Given the description of an element on the screen output the (x, y) to click on. 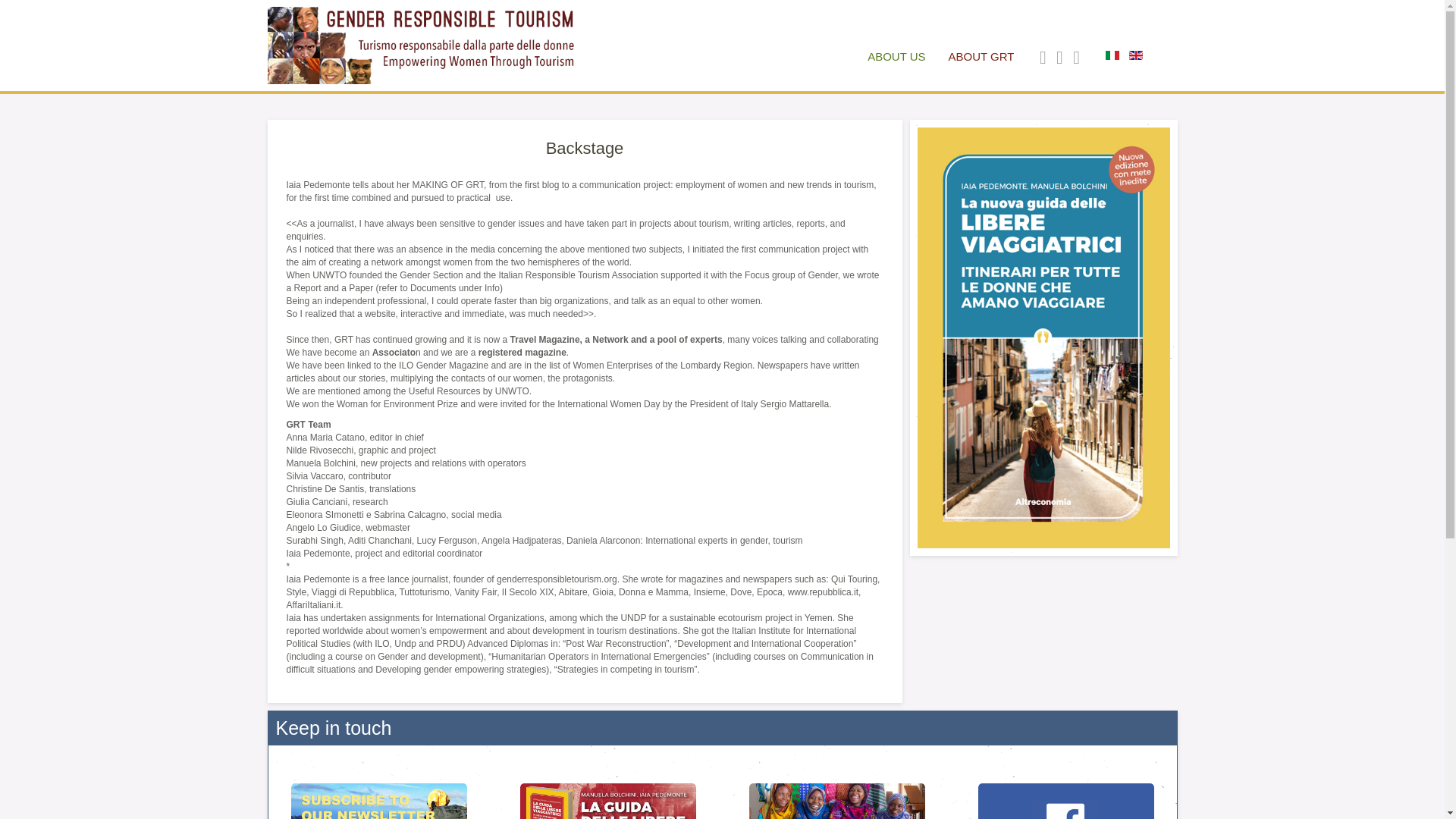
Subscribe to our Newsletter (378, 785)
Join GRT (836, 785)
ABOUT US (896, 56)
ABOUT GRT (981, 56)
La Guida delle Libere viaggiatrici (608, 785)
Facebook (1065, 785)
